Given the description of an element on the screen output the (x, y) to click on. 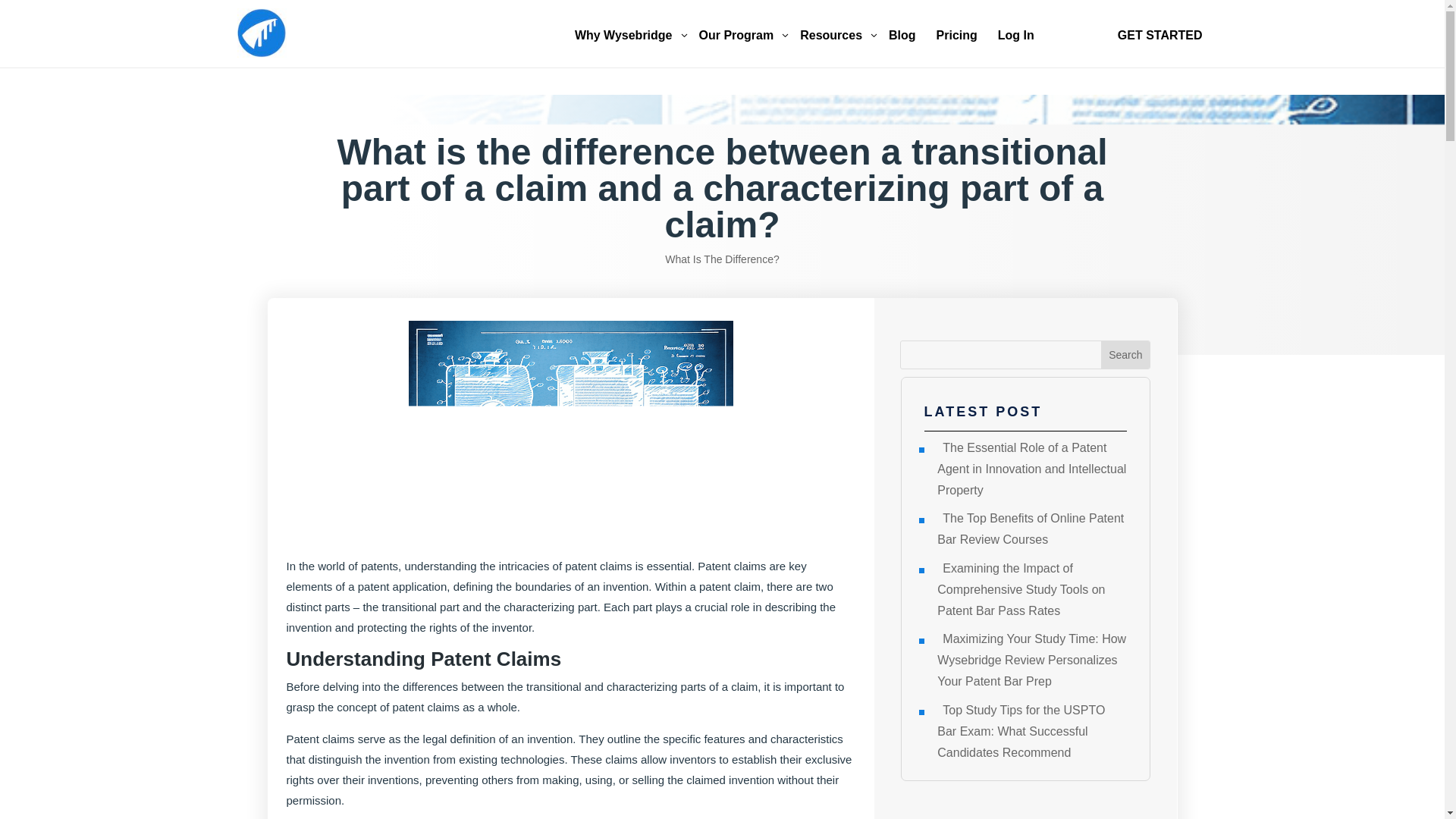
Wysebridge New Blue 80 (836, 35)
Search (260, 32)
Search (1125, 354)
